Given the description of an element on the screen output the (x, y) to click on. 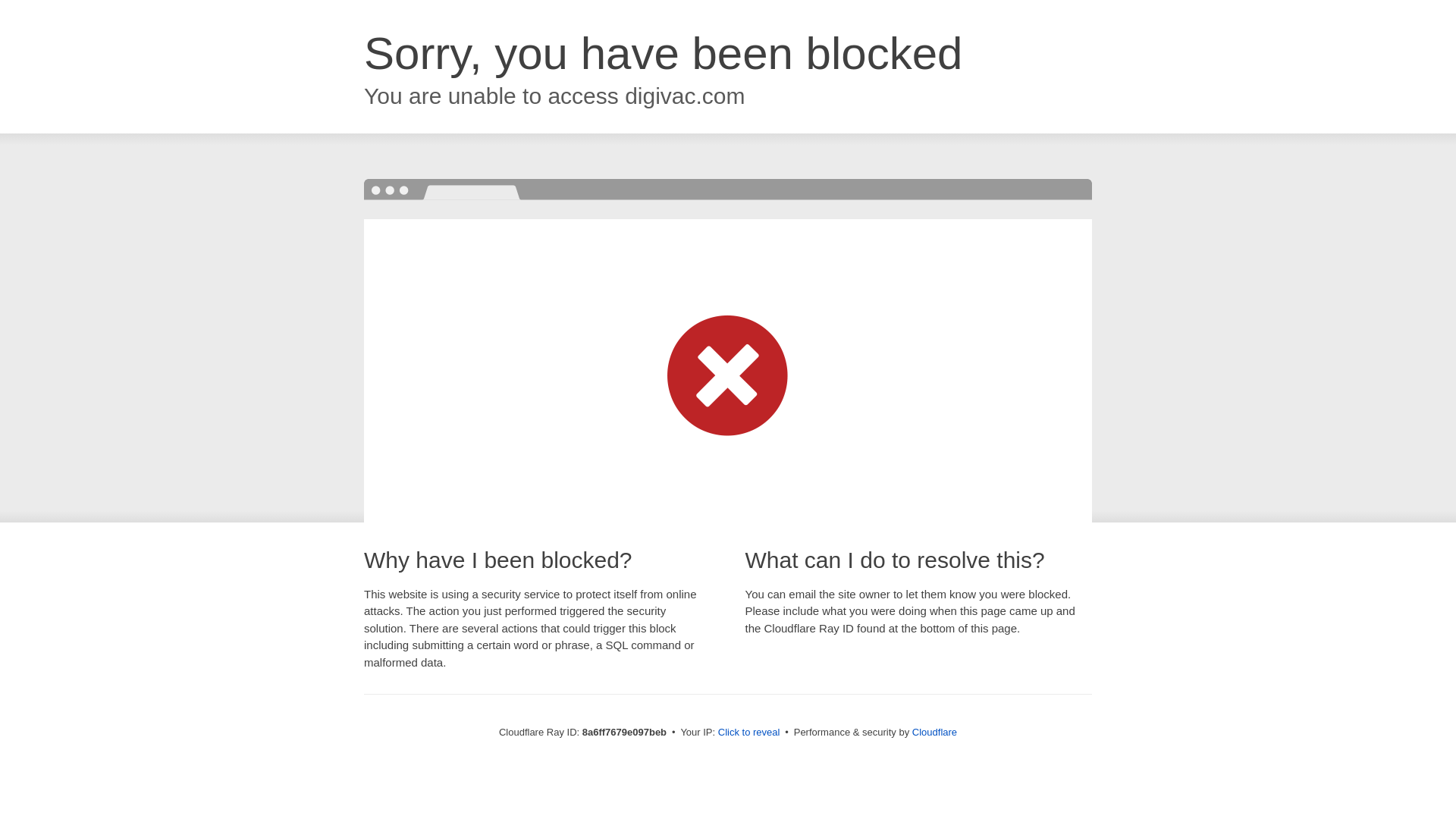
Cloudflare (934, 731)
Click to reveal (748, 732)
